Given the description of an element on the screen output the (x, y) to click on. 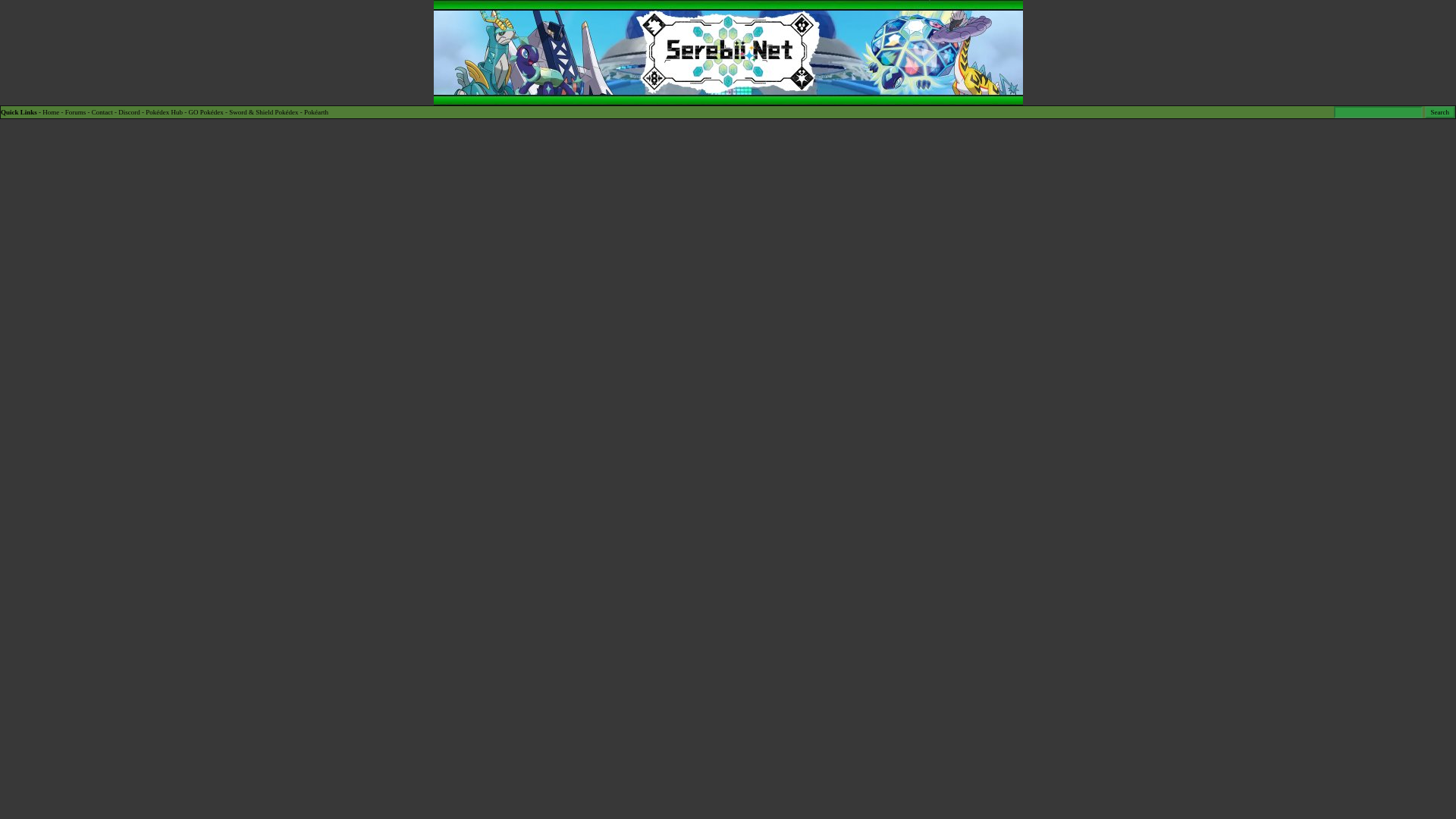
Search (1438, 111)
Search (1438, 111)
Home (50, 112)
Contact (102, 112)
Discord (128, 112)
Forums (75, 112)
